Given the description of an element on the screen output the (x, y) to click on. 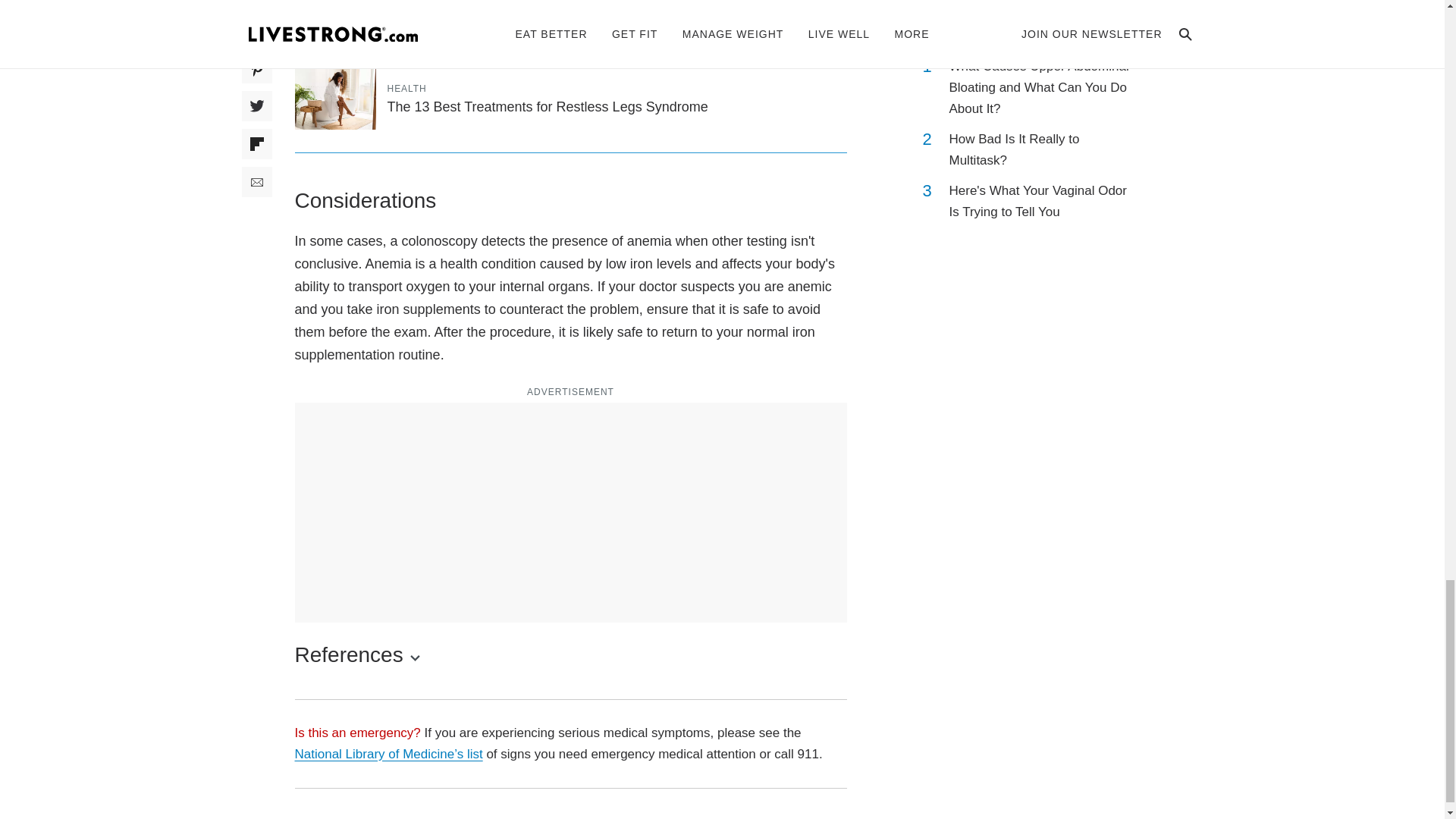
Here's What Your Vaginal Odor Is Trying to Tell You (1042, 201)
The 13 Best Treatments for Restless Legs Syndrome (547, 106)
How Bad Is It Really to Multitask? (1042, 149)
